Given the description of an element on the screen output the (x, y) to click on. 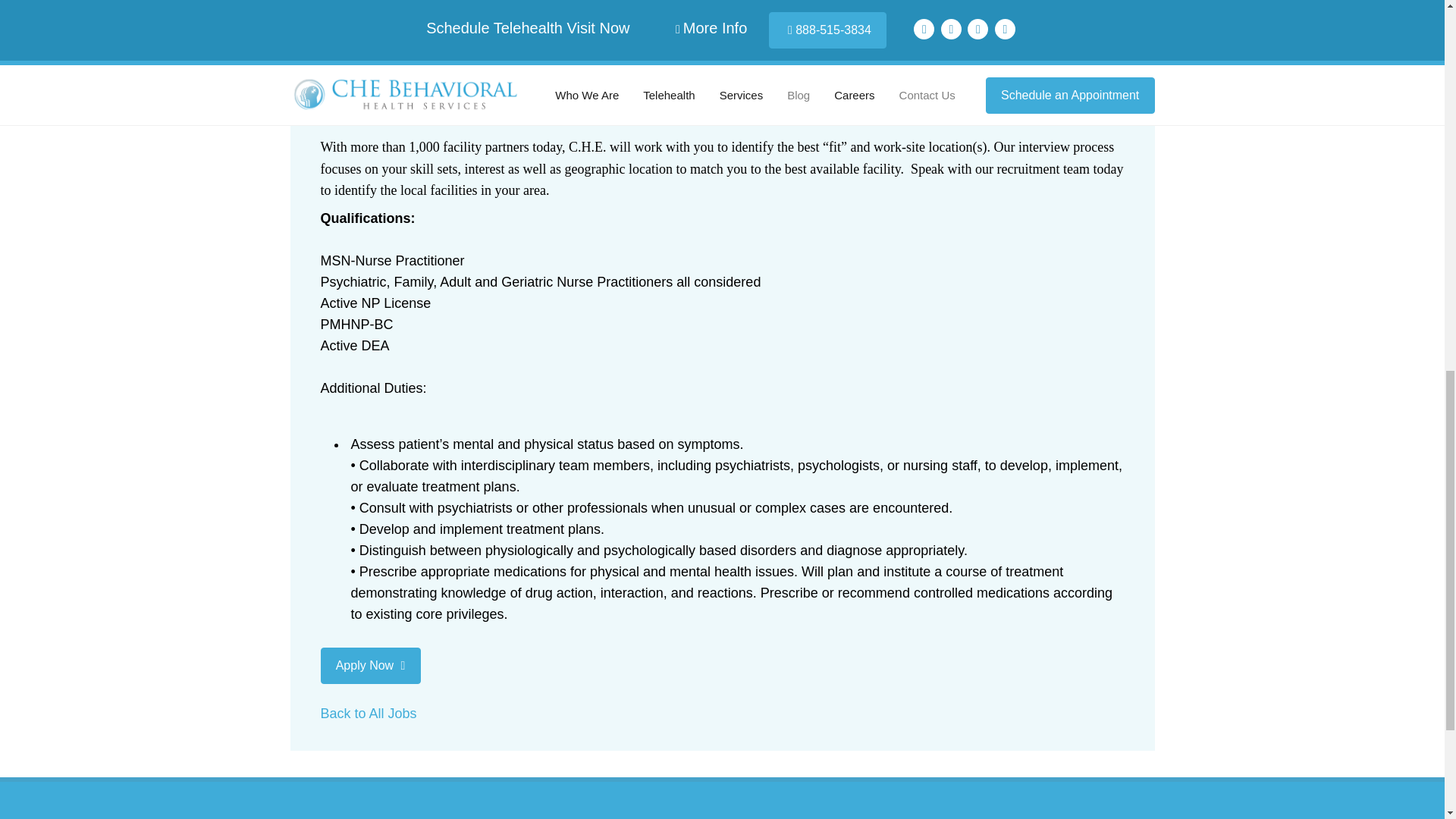
Back to All Jobs (368, 713)
Apply Now (370, 665)
